Given the description of an element on the screen output the (x, y) to click on. 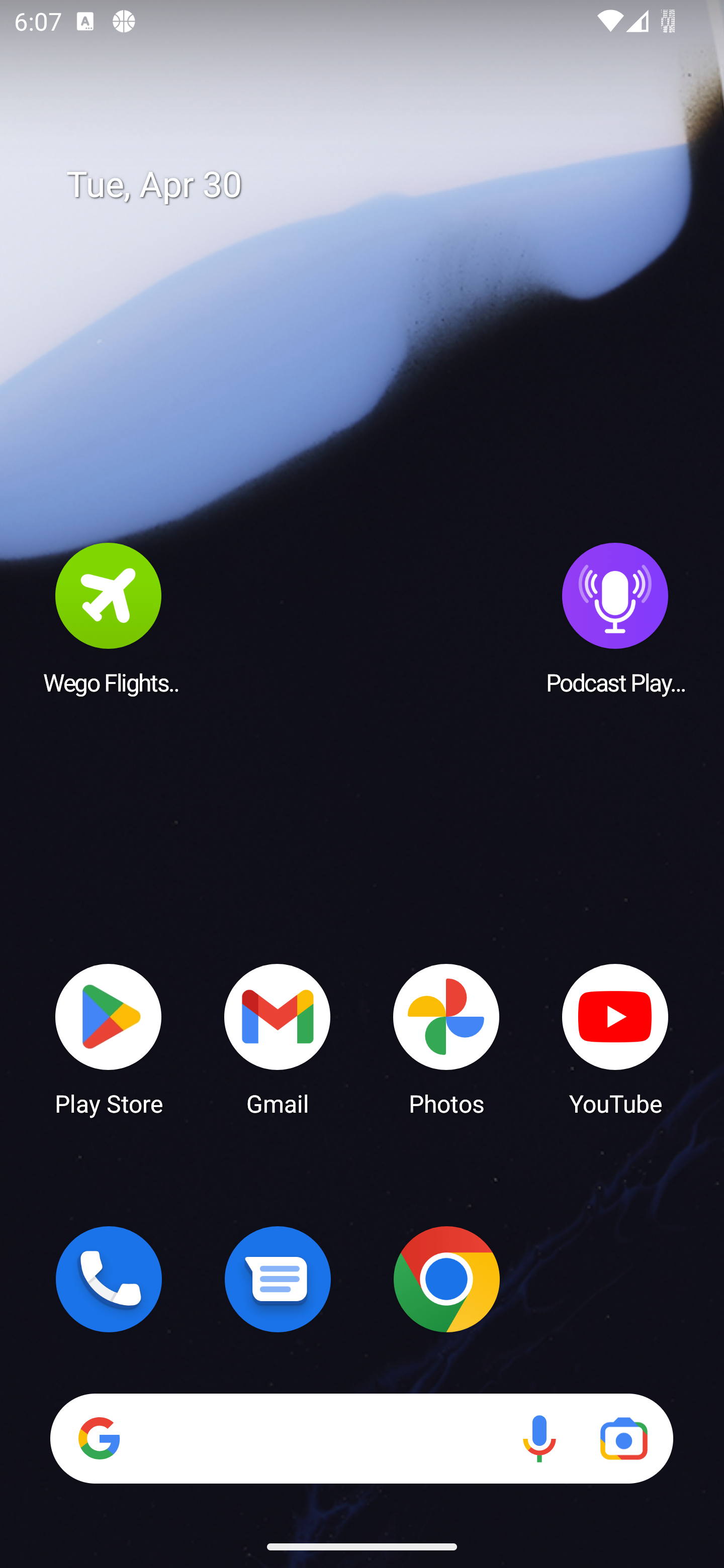
Tue, Apr 30 (375, 184)
Wego Flights & Hotels (108, 617)
Podcast Player (615, 617)
Play Store (108, 1038)
Gmail (277, 1038)
Photos (445, 1038)
YouTube (615, 1038)
Phone (108, 1279)
Messages (277, 1279)
Chrome (446, 1279)
Voice search (539, 1438)
Google Lens (623, 1438)
